Given the description of an element on the screen output the (x, y) to click on. 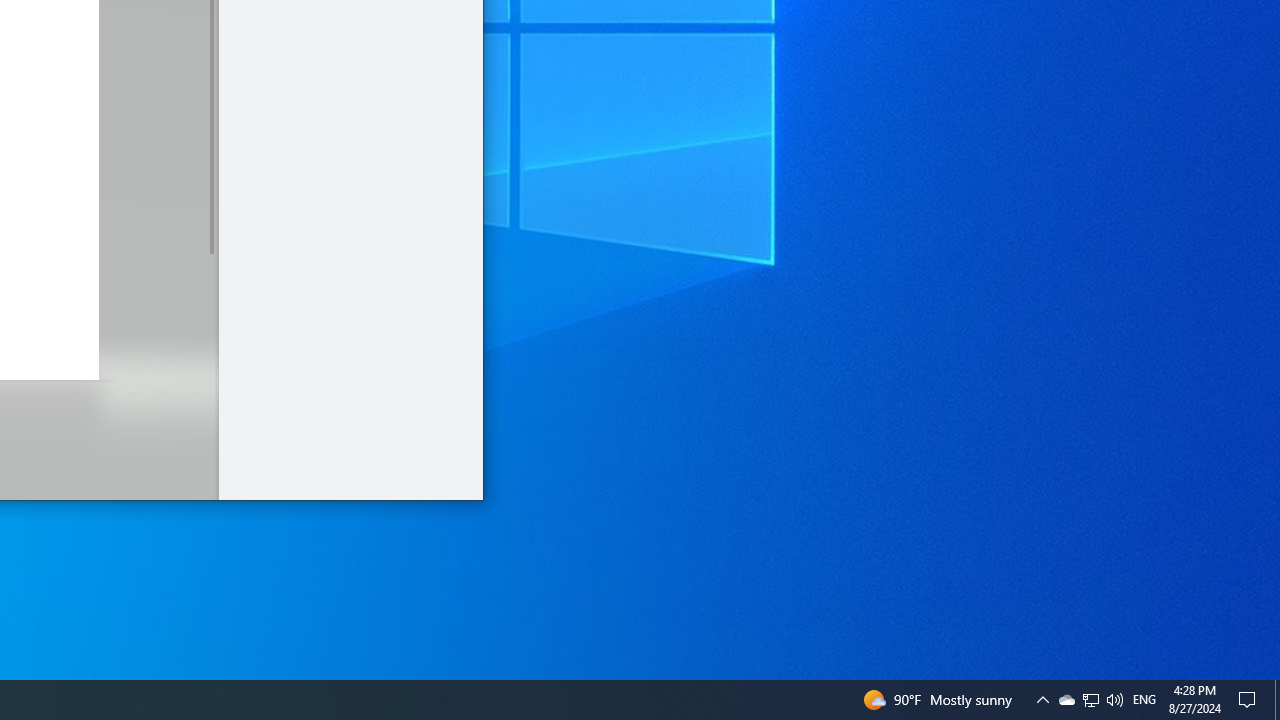
Vertical Large Increase (210, 369)
